Given the description of an element on the screen output the (x, y) to click on. 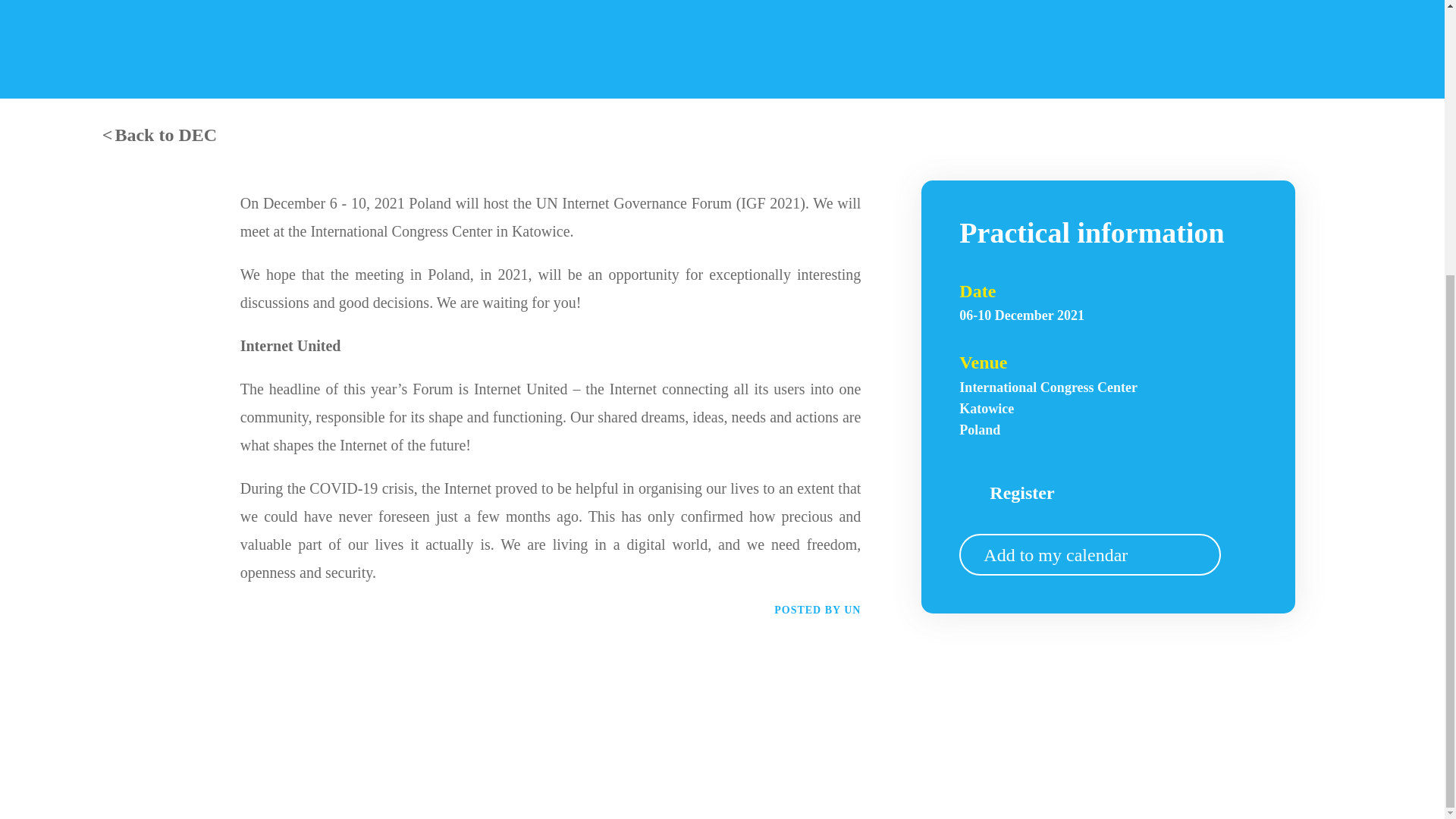
Register (1048, 492)
Back to DEC (1048, 408)
